Given the description of an element on the screen output the (x, y) to click on. 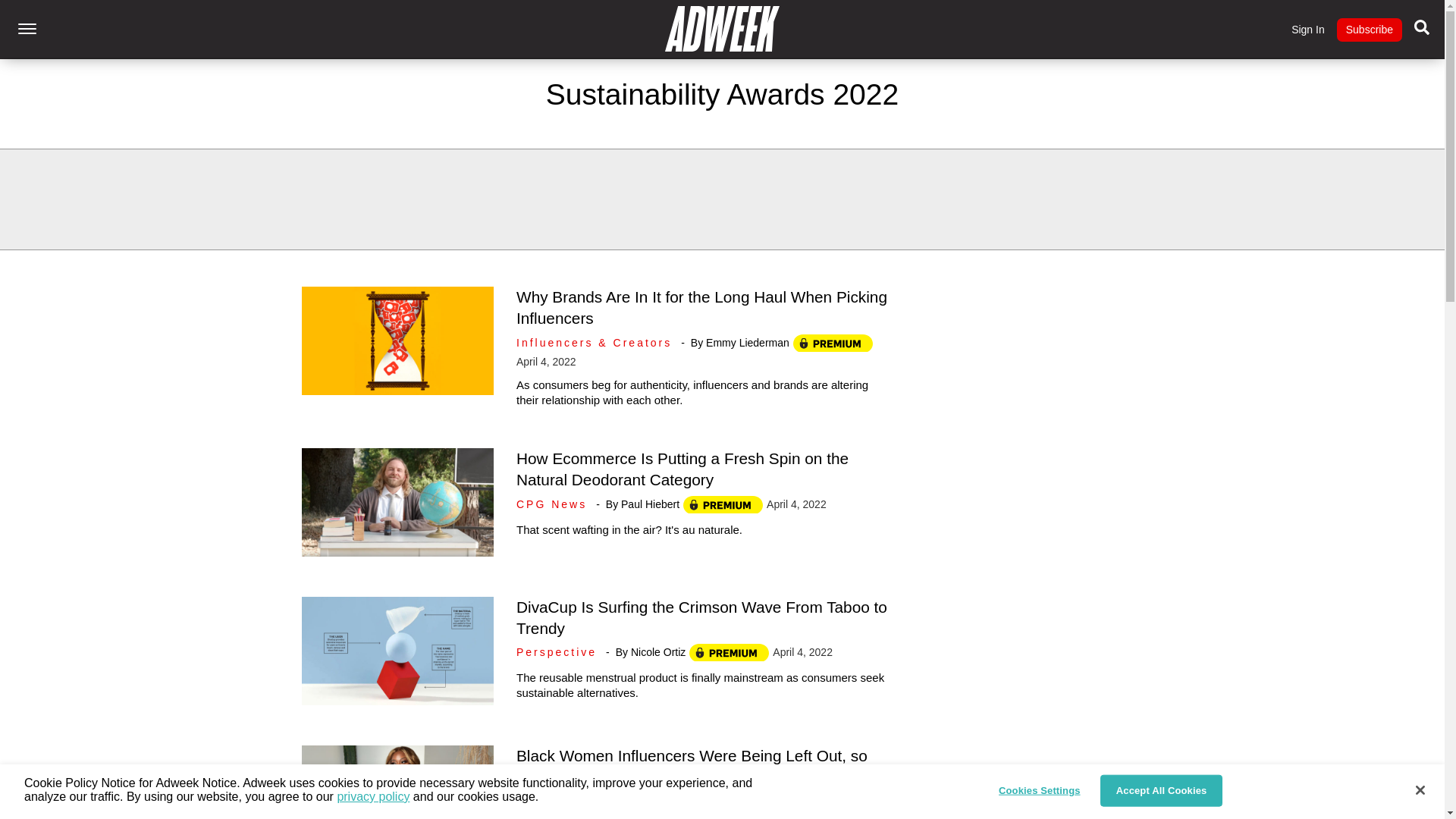
Sign In (1307, 29)
Perspective (559, 652)
Emmy Liederman (747, 342)
Emmy Liederman (728, 800)
3rd party ad content (722, 199)
Subscribe (1369, 29)
DivaCup Is Surfing the Crimson Wave From Taboo to Trendy (701, 617)
Nicole Ortiz (657, 652)
CPG News (554, 503)
Paul Hiebert (650, 503)
Toggle Main Menu (26, 28)
